Given the description of an element on the screen output the (x, y) to click on. 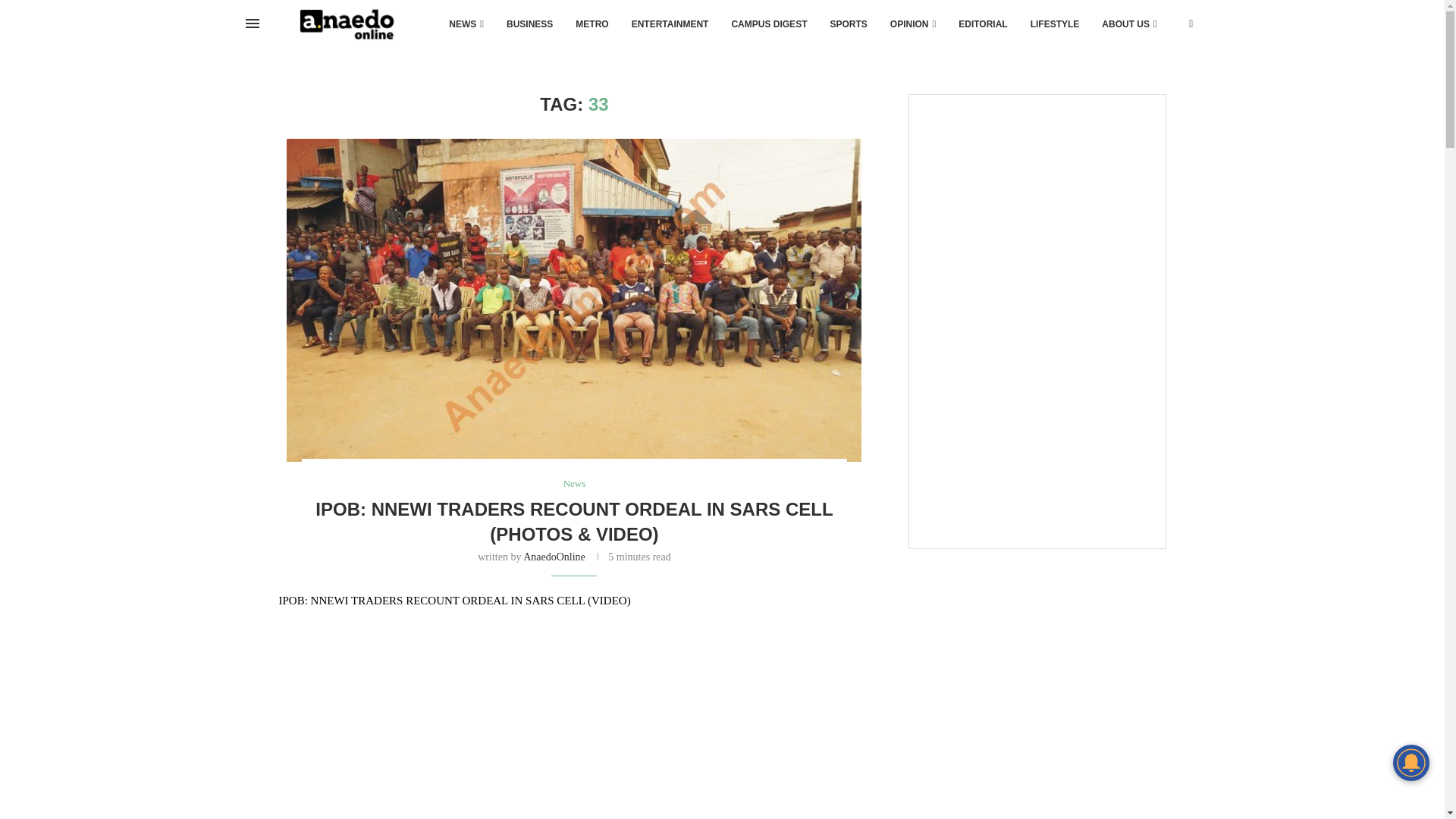
CAMPUS DIGEST (768, 23)
ENTERTAINMENT (670, 23)
LIFESTYLE (1054, 23)
Advertisement (1036, 438)
EDITORIAL (982, 23)
BUSINESS (529, 23)
METRO (592, 23)
SPORTS (847, 23)
ABOUT US (1128, 23)
